Given the description of an element on the screen output the (x, y) to click on. 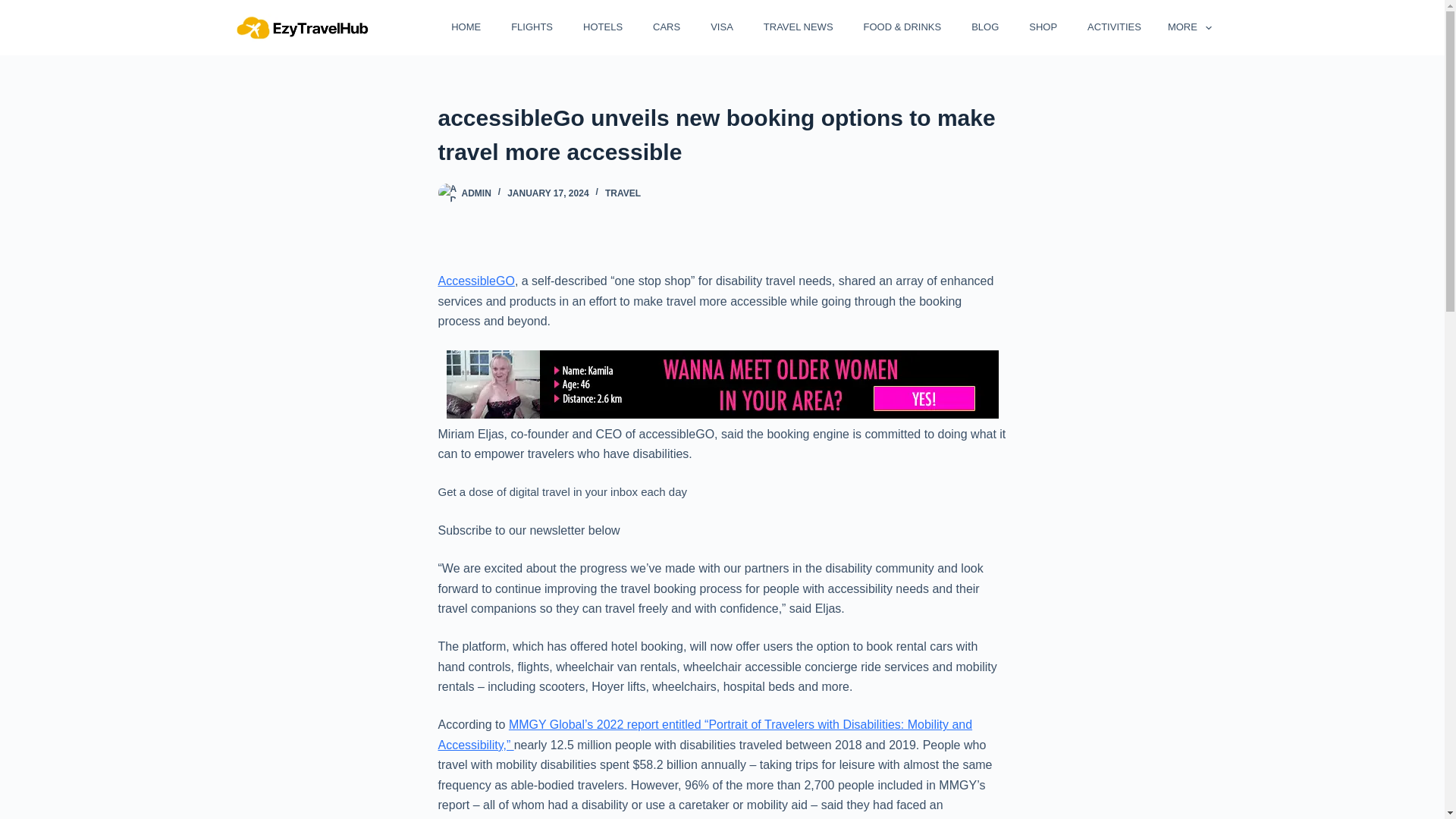
Posts by admin (475, 193)
BLOG (983, 27)
SHOP (1040, 27)
TRAVEL NEWS (795, 27)
VISA (720, 27)
Skip to content (15, 7)
HOME (464, 27)
ACTIVITIES (1112, 27)
CARS (665, 27)
MORE (1182, 27)
HOTELS (601, 27)
FLIGHTS (530, 27)
